Given the description of an element on the screen output the (x, y) to click on. 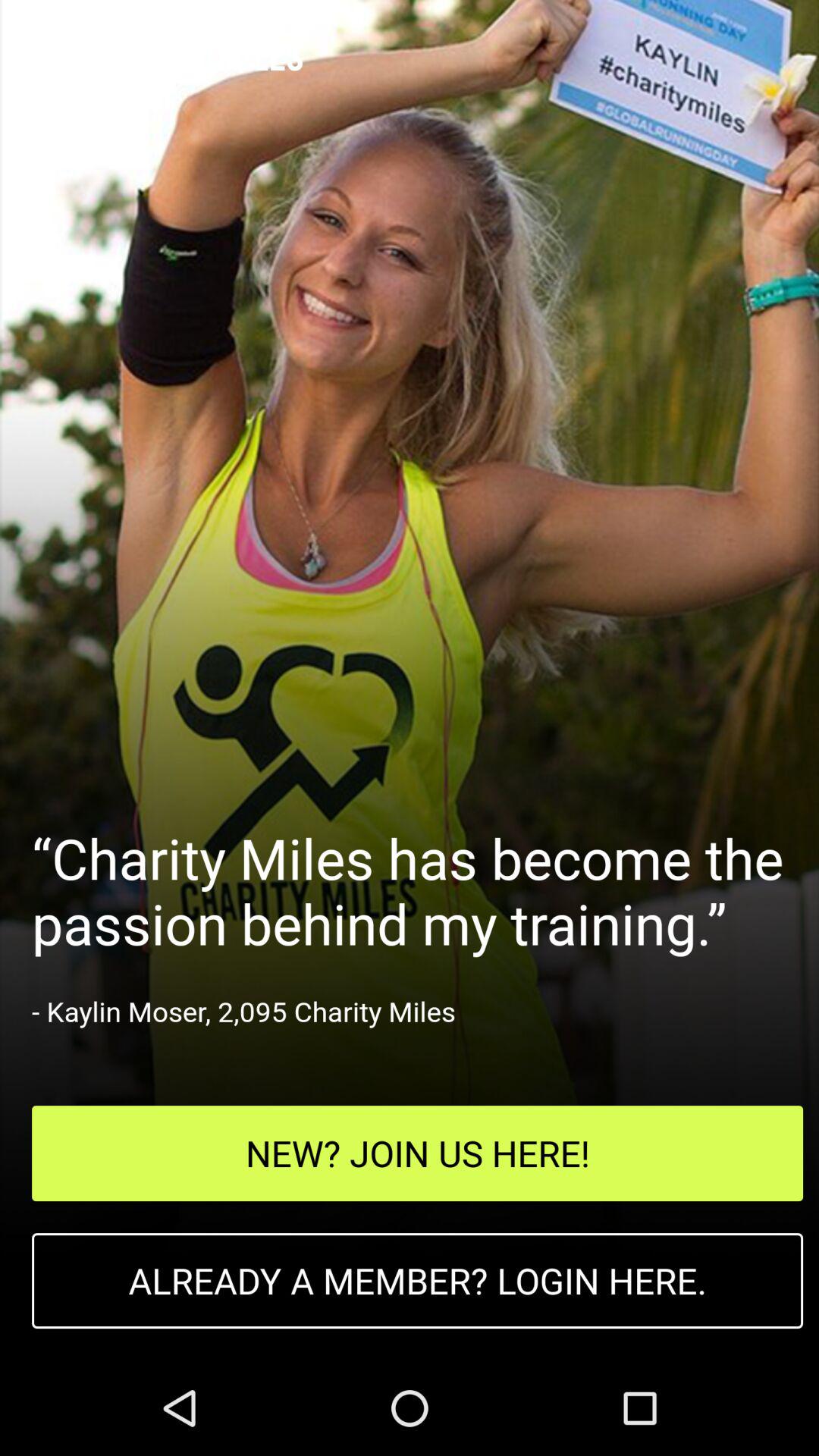
jump to new join us (417, 1153)
